Given the description of an element on the screen output the (x, y) to click on. 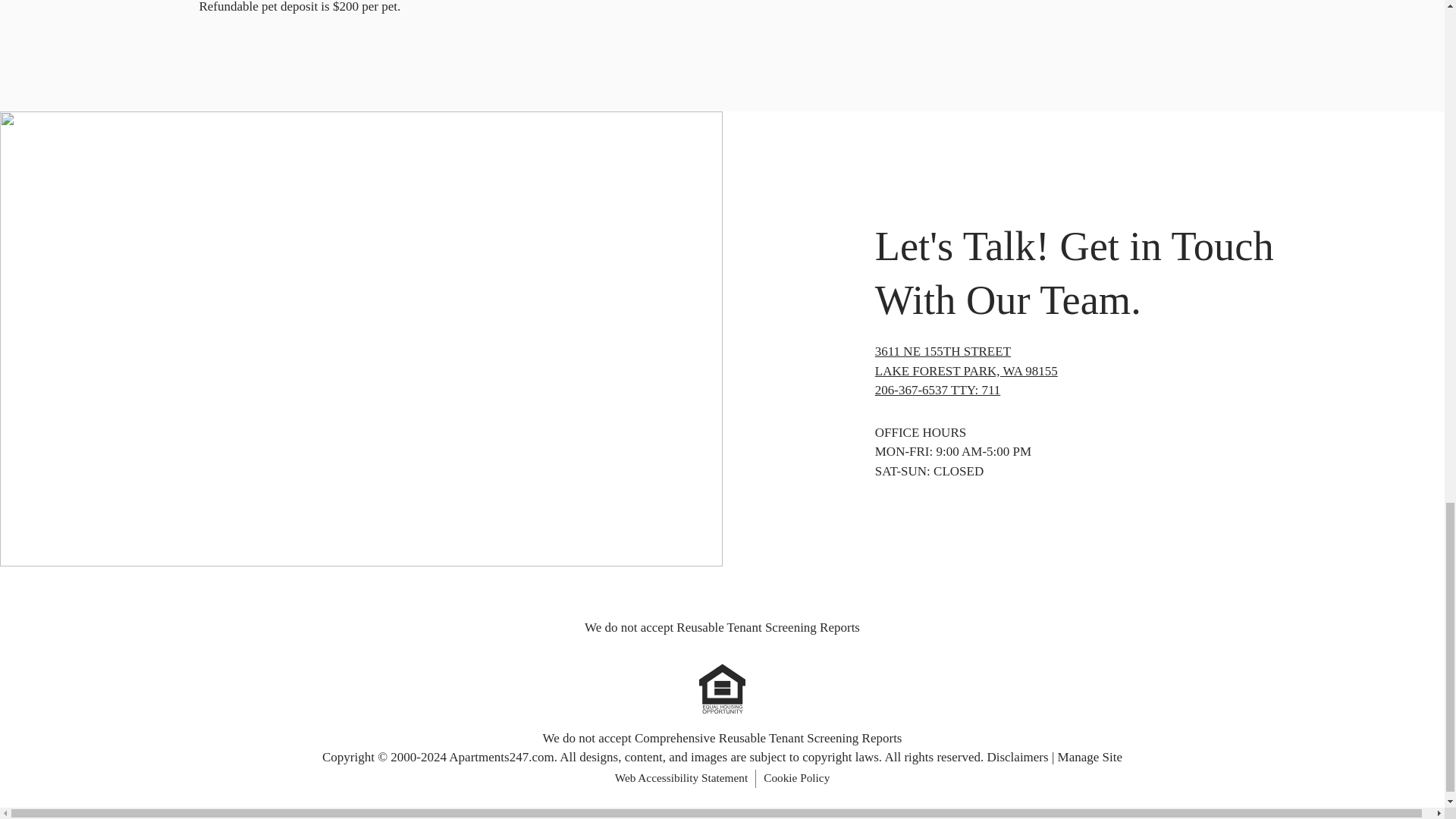
Apartments247.com (500, 757)
206-367-6537 TTY: 711 (938, 390)
Cookie Policy (795, 778)
Equal Housing Opportunity Policy (722, 688)
Disclaimers (1017, 757)
eho policy (722, 688)
Web Accessibility Statement (681, 778)
Edit Webiste Content (1083, 361)
Manage Site (1090, 757)
